Given the description of an element on the screen output the (x, y) to click on. 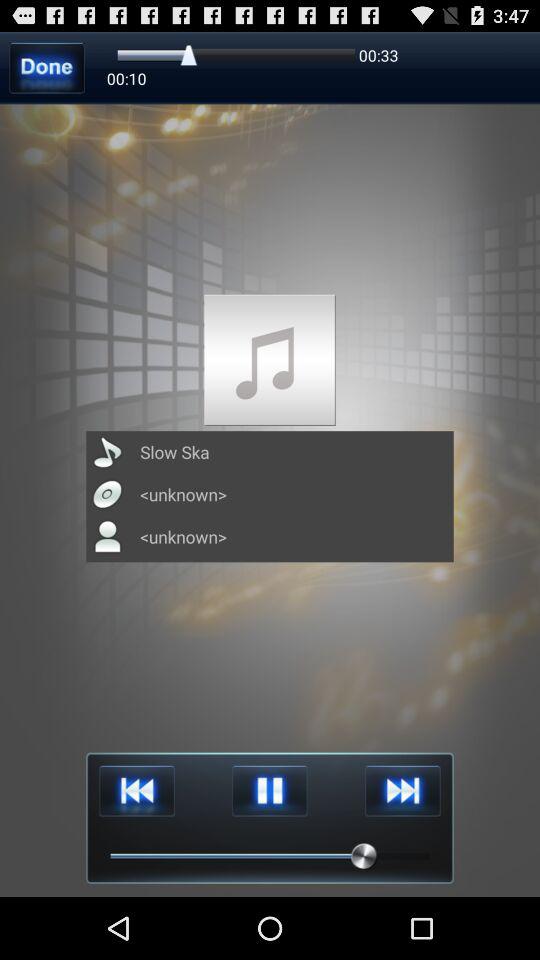
return to previous screen (46, 67)
